Given the description of an element on the screen output the (x, y) to click on. 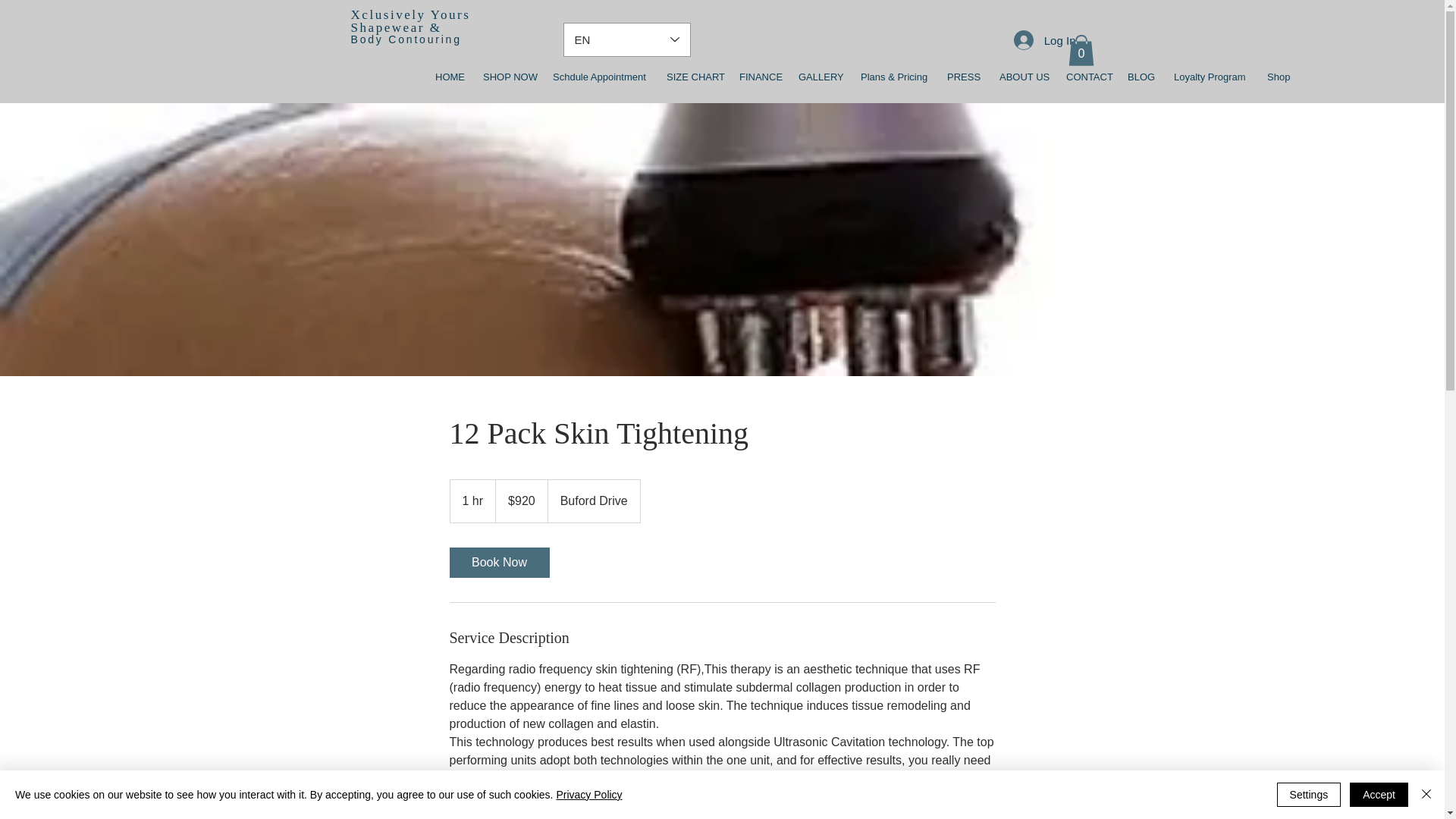
HOME (447, 77)
Loyalty Program (1208, 77)
SHOP NOW (506, 77)
SIZE CHART (691, 77)
Body Contouring (405, 39)
Log In (1044, 39)
GALLERY (817, 77)
Privacy Policy (588, 794)
FINANCE (757, 77)
Accept (1378, 794)
Book Now (498, 562)
PRESS (962, 77)
0 (1080, 50)
CONTACT (1085, 77)
Settings (1308, 794)
